Given the description of an element on the screen output the (x, y) to click on. 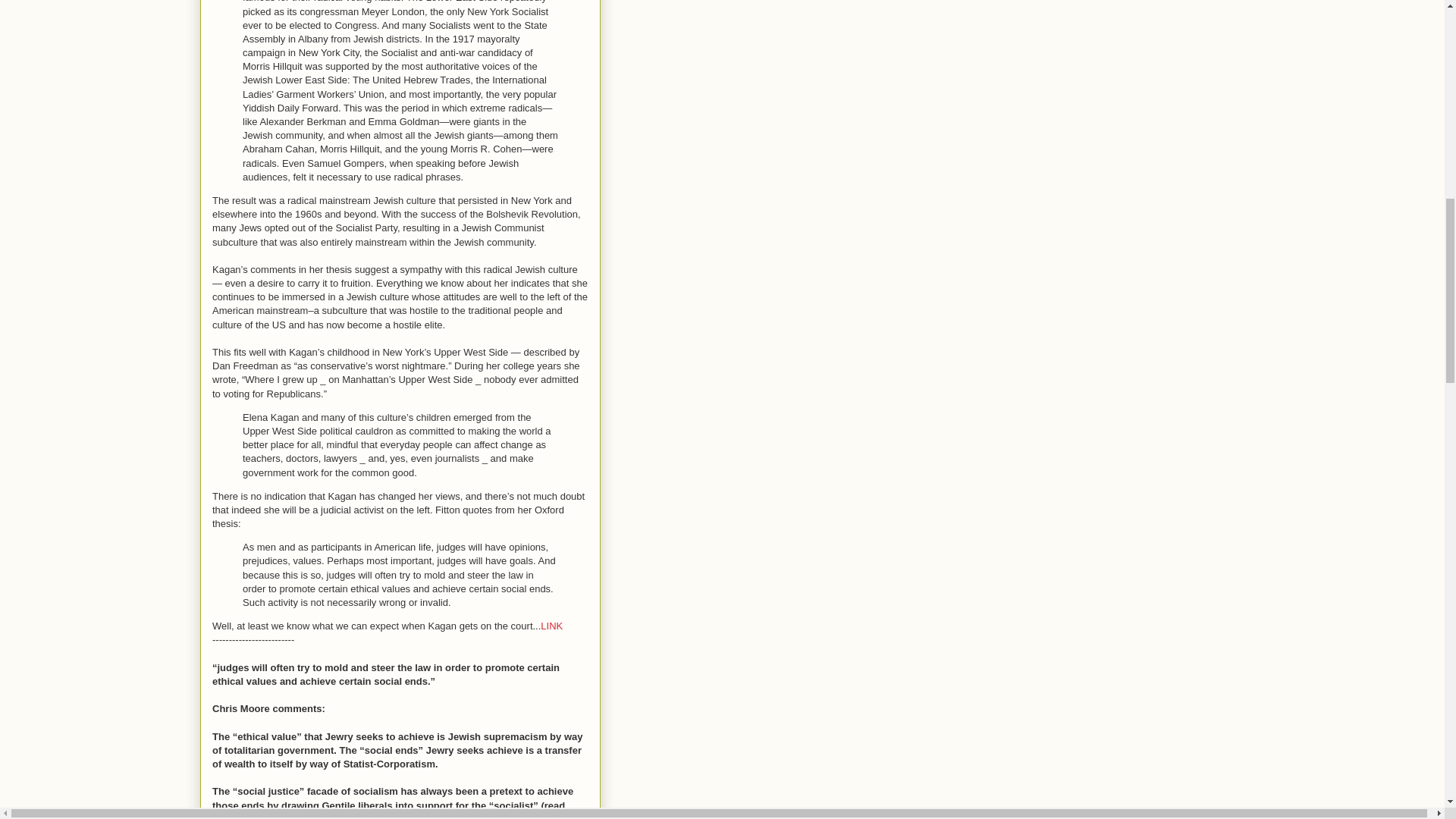
LINK (551, 625)
